Given the description of an element on the screen output the (x, y) to click on. 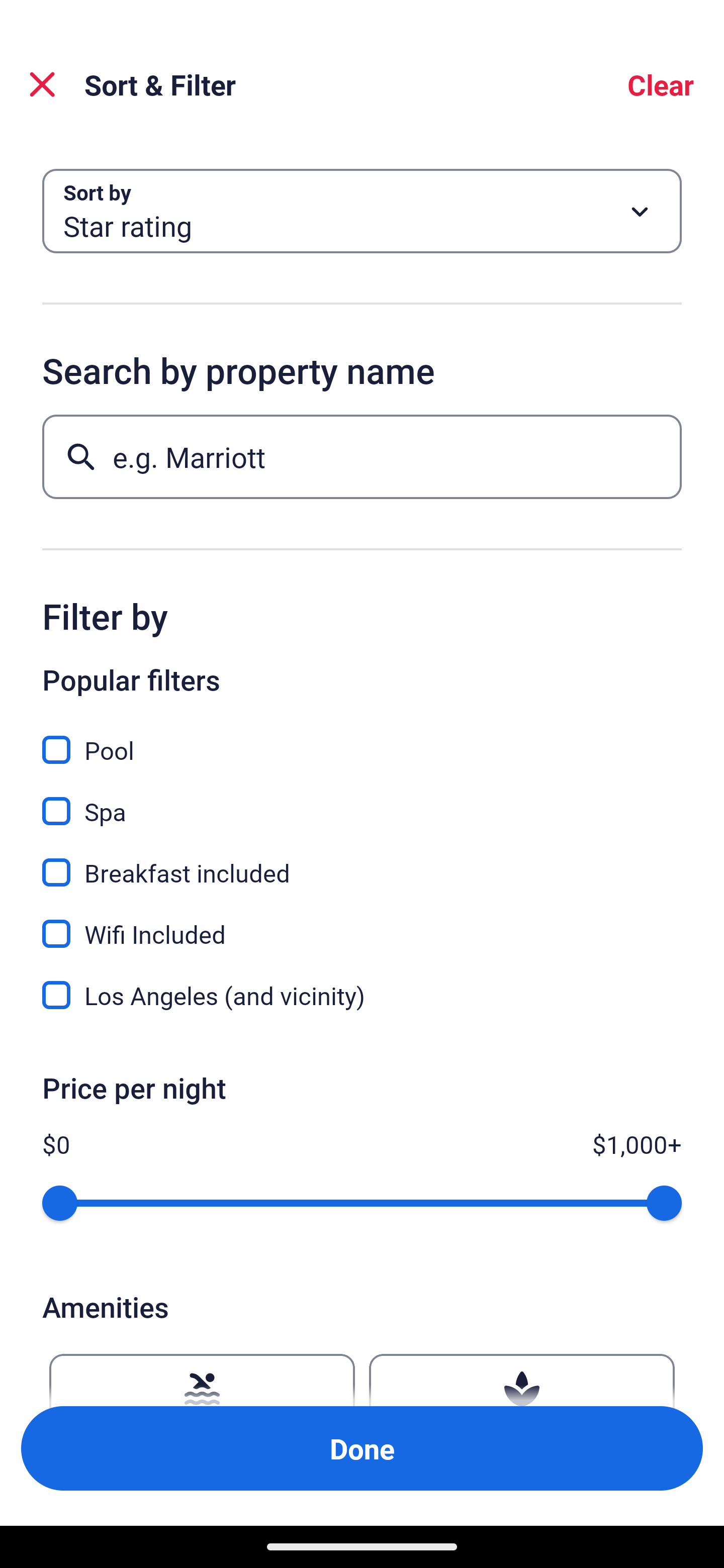
Close Sort and Filter (42, 84)
Clear (660, 84)
Sort by Button Star rating (361, 211)
e.g. Marriott Button (361, 455)
Pool, Pool (361, 738)
Spa, Spa (361, 800)
Breakfast included, Breakfast included (361, 861)
Wifi Included, Wifi Included (361, 922)
Apply and close Sort and Filter Done (361, 1448)
